Given the description of an element on the screen output the (x, y) to click on. 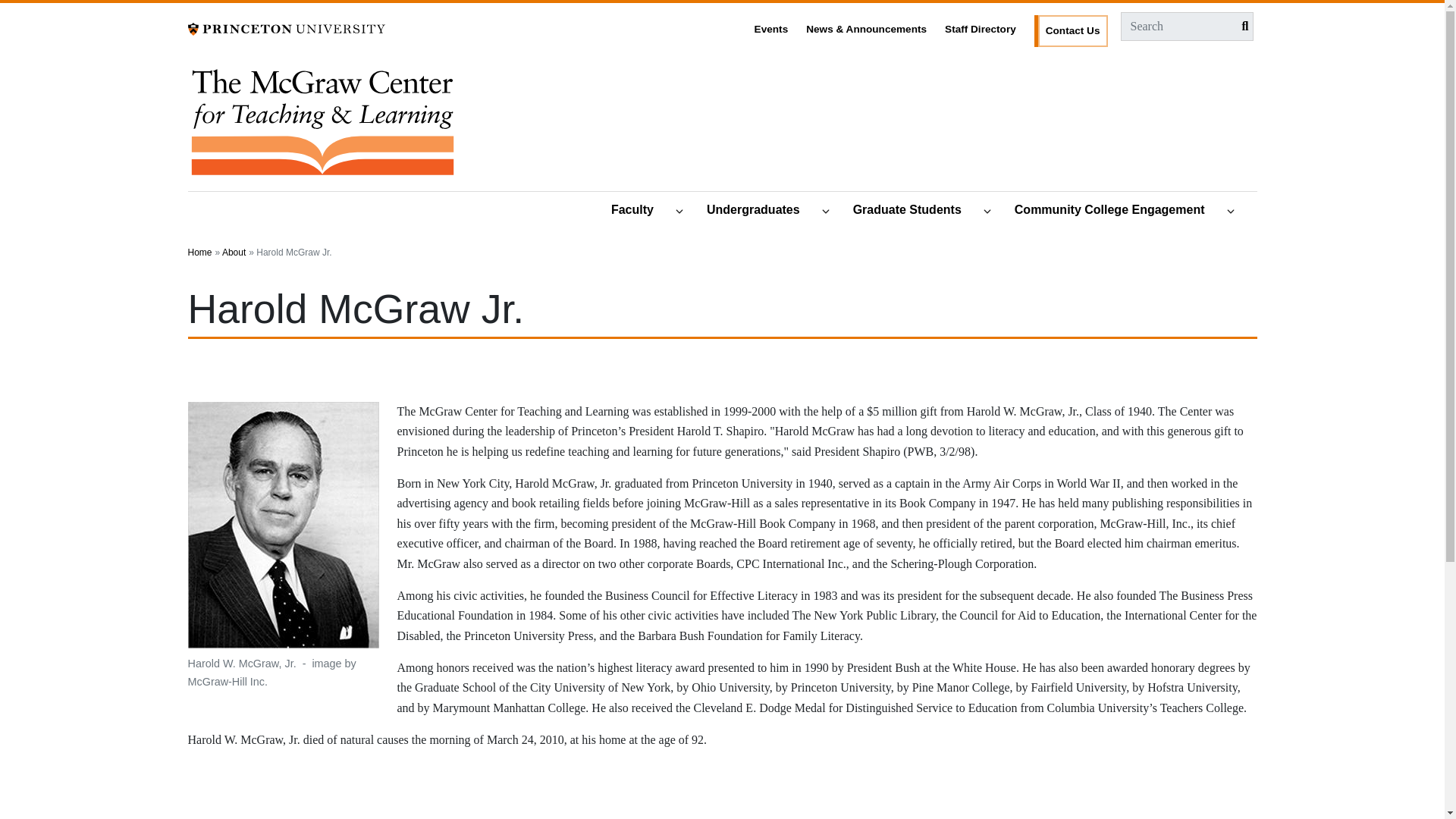
Home (322, 127)
Princeton University (286, 27)
McGraw staff directory (980, 26)
Faculty (639, 210)
Submit (1240, 25)
